Given the description of an element on the screen output the (x, y) to click on. 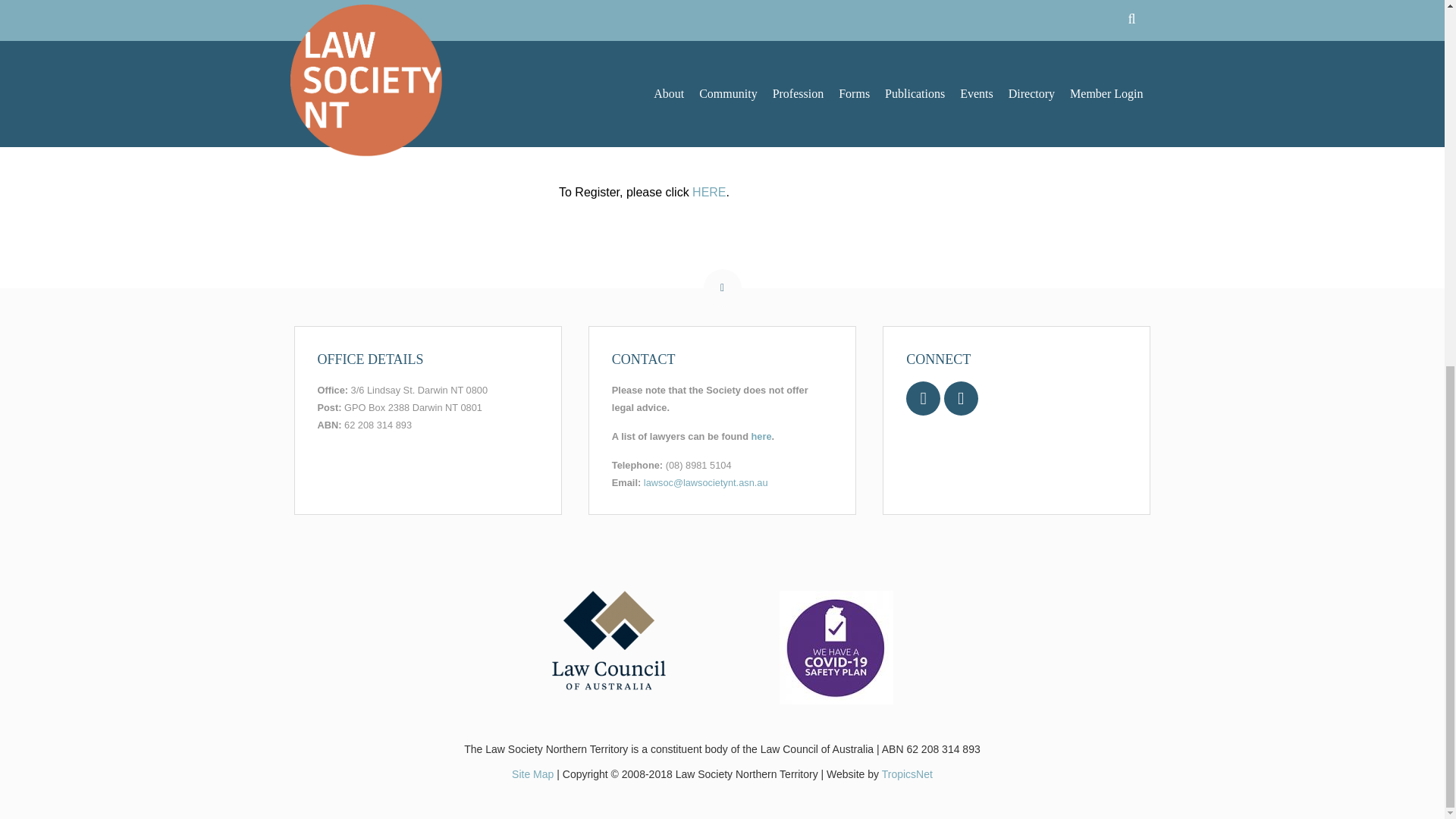
LCA Logo (608, 640)
COVID-19 Safety Plan Logo (835, 647)
